Given the description of an element on the screen output the (x, y) to click on. 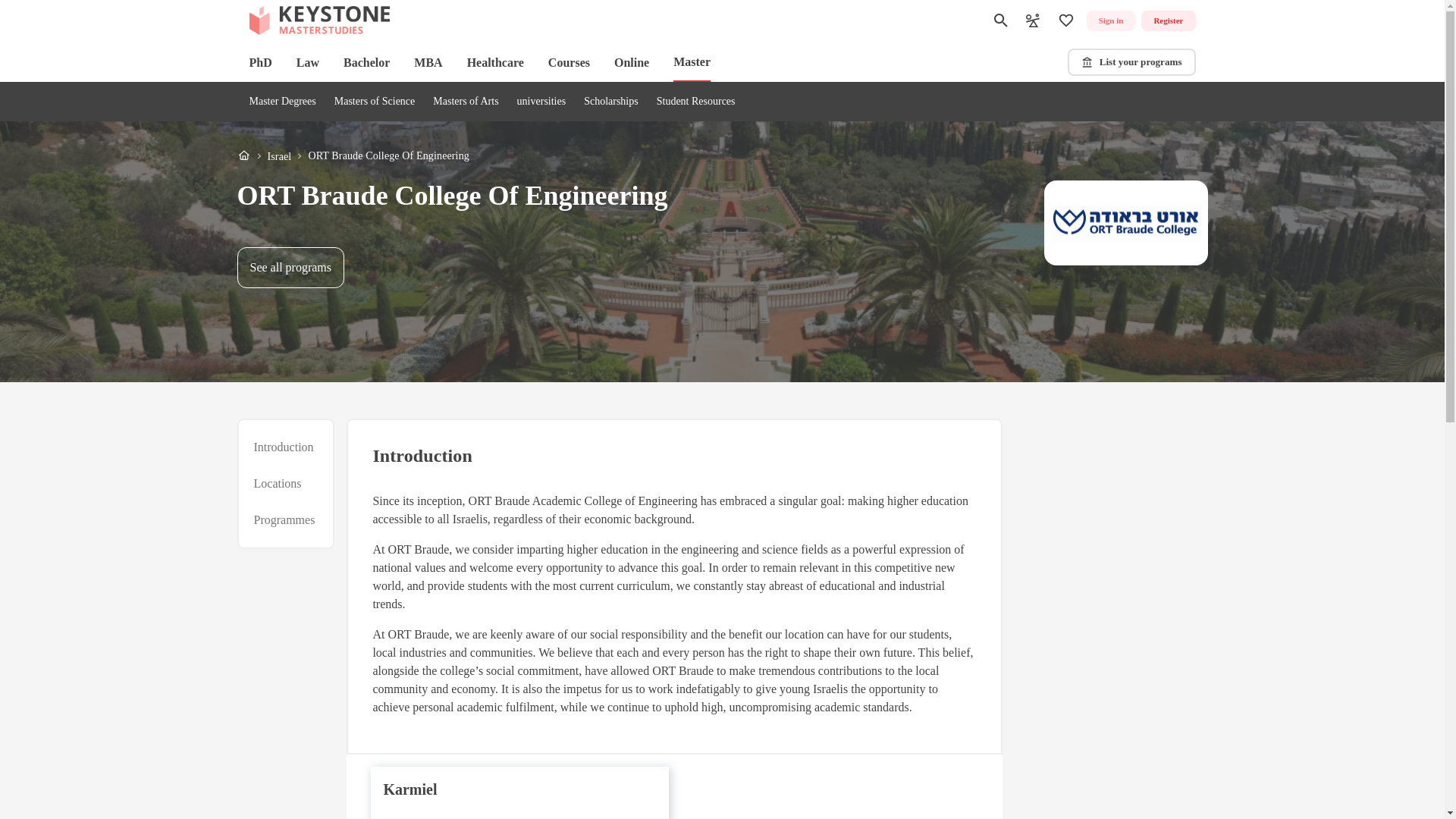
Master (691, 62)
Programmes (283, 520)
Scholarships (611, 101)
Locations (277, 484)
Masters of Science (374, 101)
Israel (278, 156)
Bachelor (366, 63)
Courses (568, 63)
Register (1168, 20)
Online (631, 63)
Sign in (351, 156)
See all programs (1110, 20)
Master Degrees (289, 267)
